Given the description of an element on the screen output the (x, y) to click on. 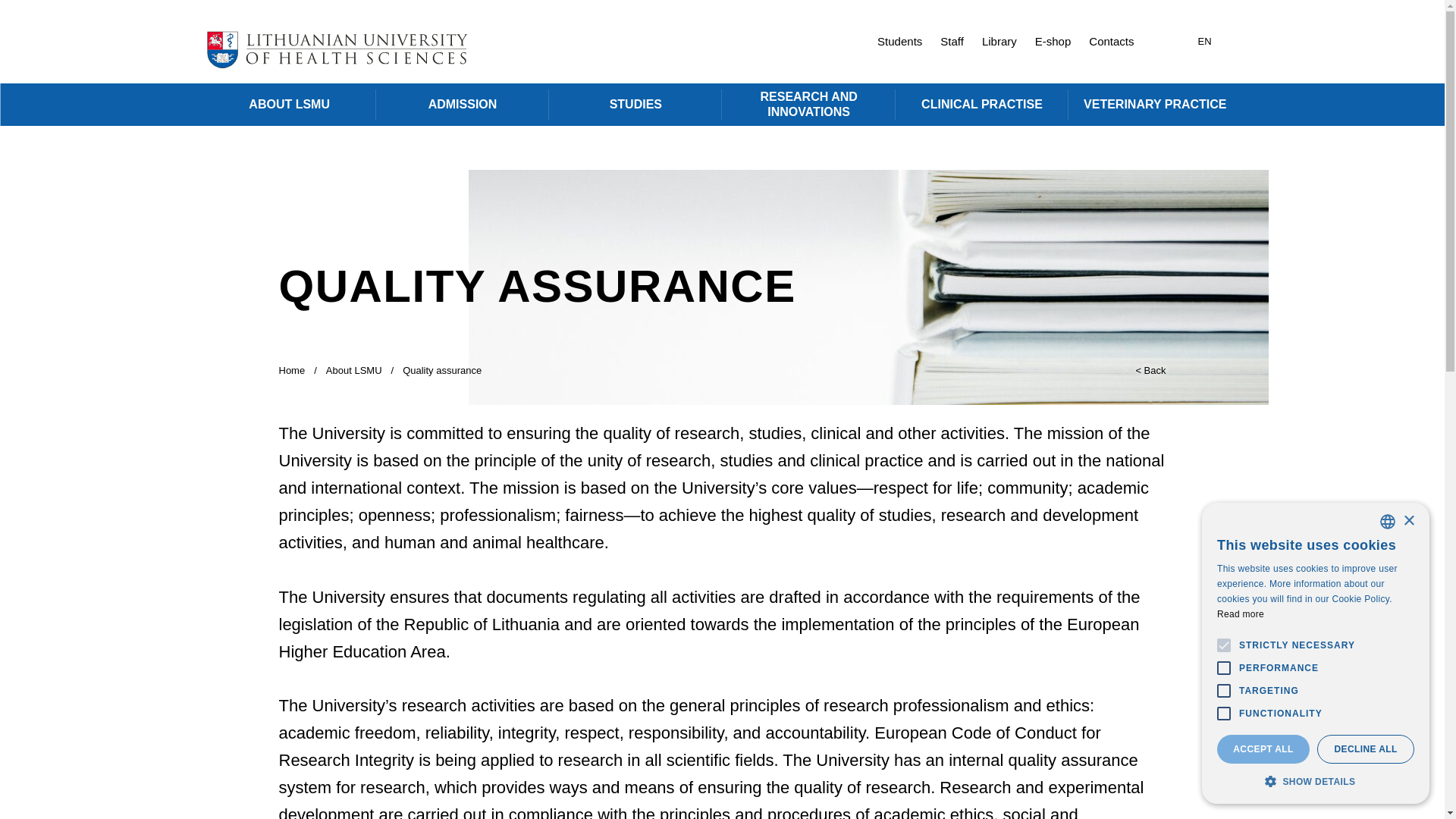
EN (1204, 41)
ADMISSION (461, 104)
Contacts (1111, 42)
ABOUT LSMU (289, 104)
E-shop (1053, 42)
Library (998, 42)
Students (899, 42)
Staff (951, 42)
